Given the description of an element on the screen output the (x, y) to click on. 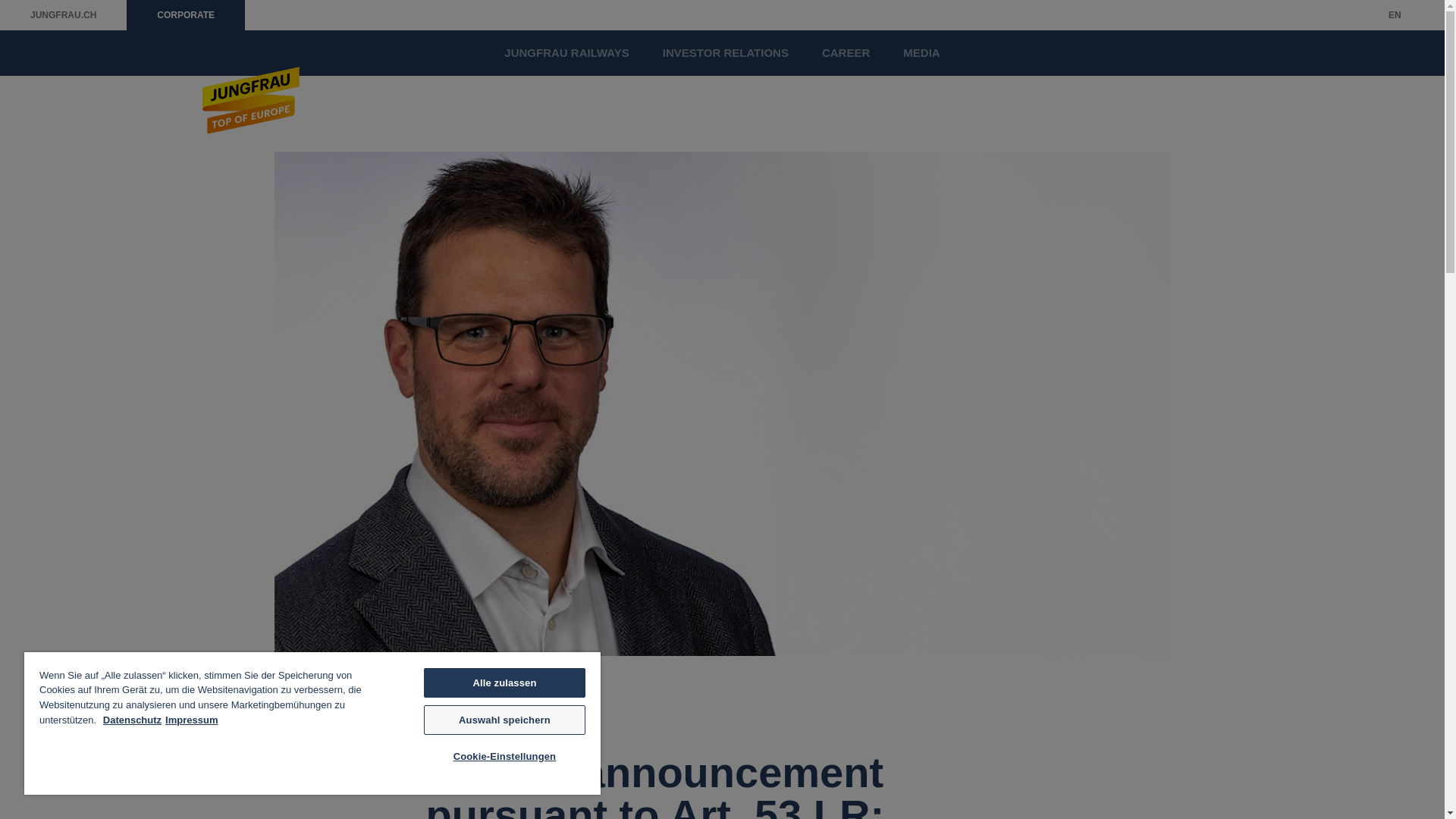
JUNGFRAU RAILWAYS (566, 53)
INVESTOR RELATIONS (725, 53)
MEDIA (921, 53)
JUNGFRAU.CH (63, 15)
CORPORATE (185, 15)
CAREER (845, 53)
